Given the description of an element on the screen output the (x, y) to click on. 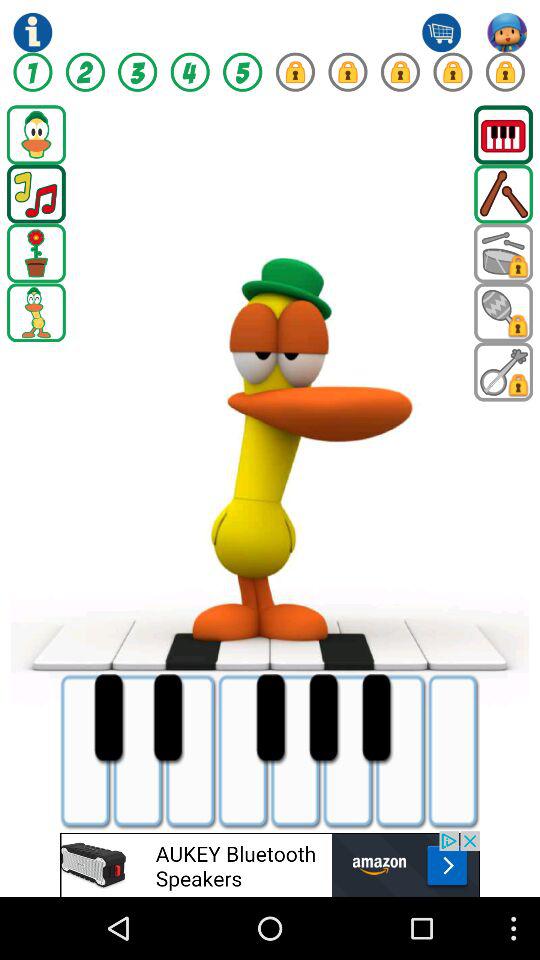
level locked (347, 71)
